Given the description of an element on the screen output the (x, y) to click on. 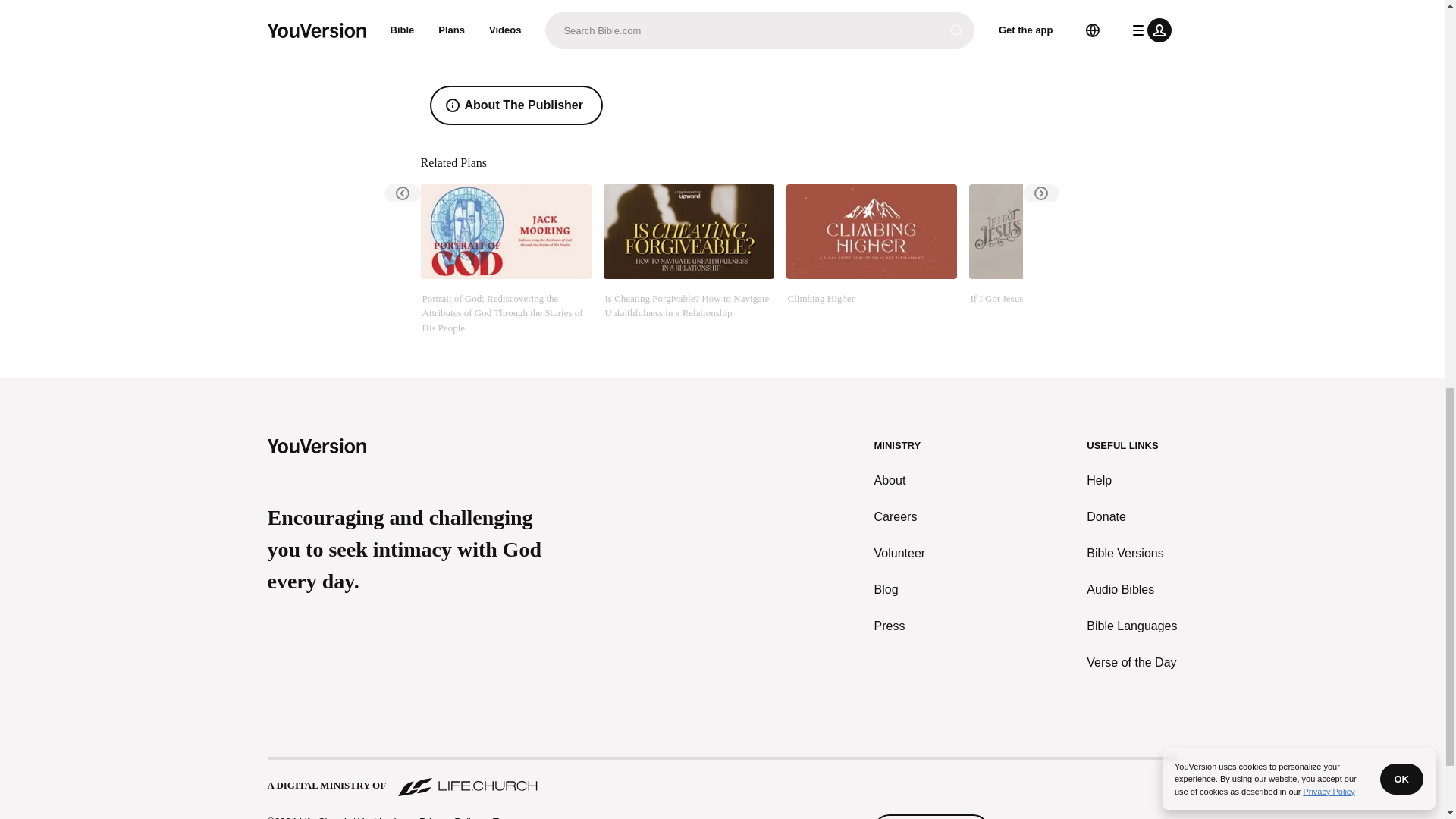
Blog (900, 589)
Bible Versions (1131, 553)
Volunteer (900, 553)
About The Publisher (514, 104)
Help (1131, 480)
Audio Bibles (1131, 589)
Verse of the Day (1131, 662)
Bible Languages (1131, 626)
About (900, 480)
Donate (1131, 516)
If I Got Jesus: Living for Christ Alone (1054, 259)
Privacy Policy (449, 816)
Terms (506, 817)
A DIGITAL MINISTRY OF (721, 778)
